Given the description of an element on the screen output the (x, y) to click on. 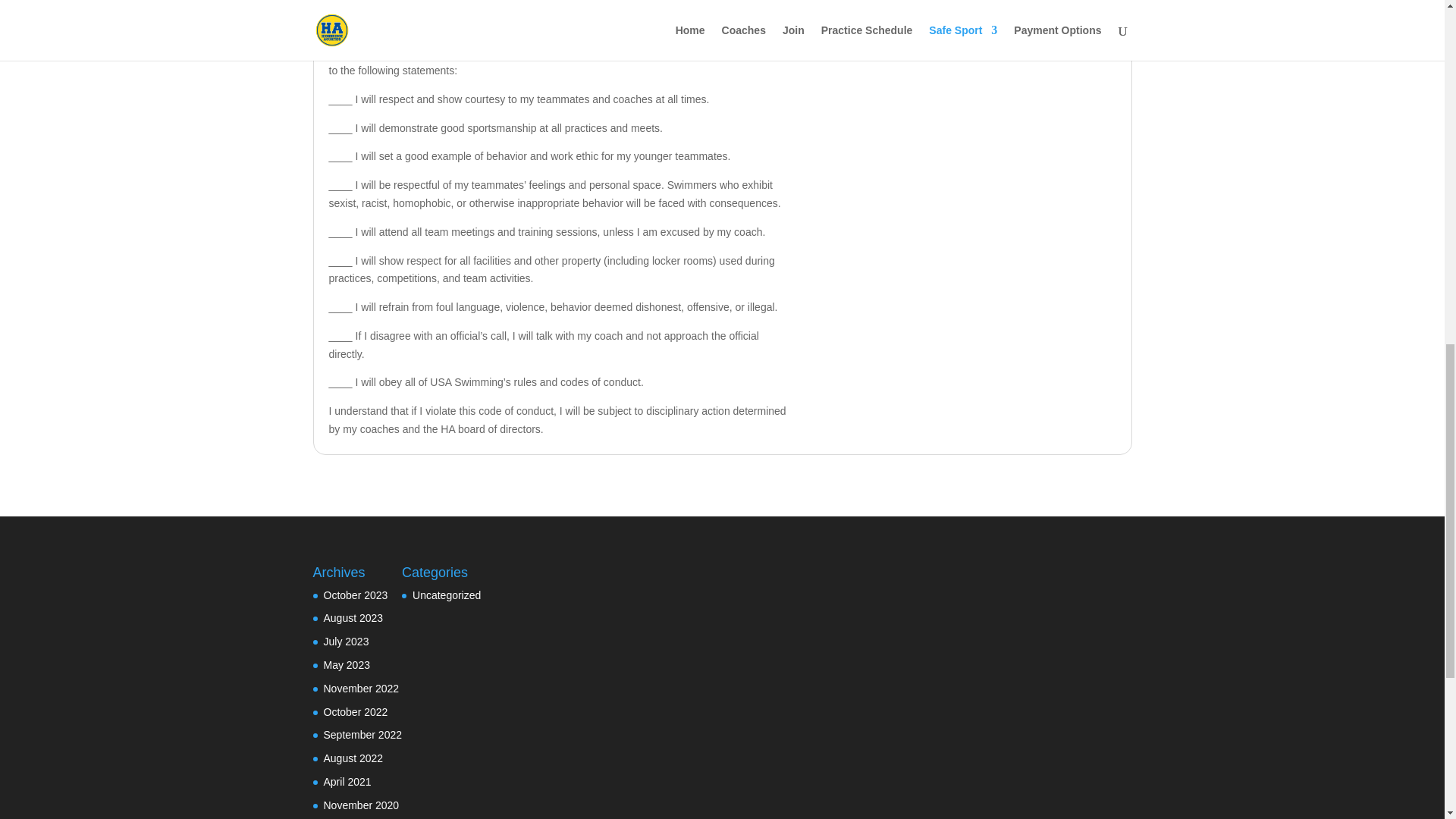
Uncategorized (446, 594)
July 2023 (345, 641)
August 2022 (352, 758)
October 2022 (355, 711)
November 2022 (360, 688)
May 2023 (346, 664)
October 2023 (355, 594)
August 2023 (352, 617)
April 2021 (347, 781)
November 2020 (360, 805)
